Given the description of an element on the screen output the (x, y) to click on. 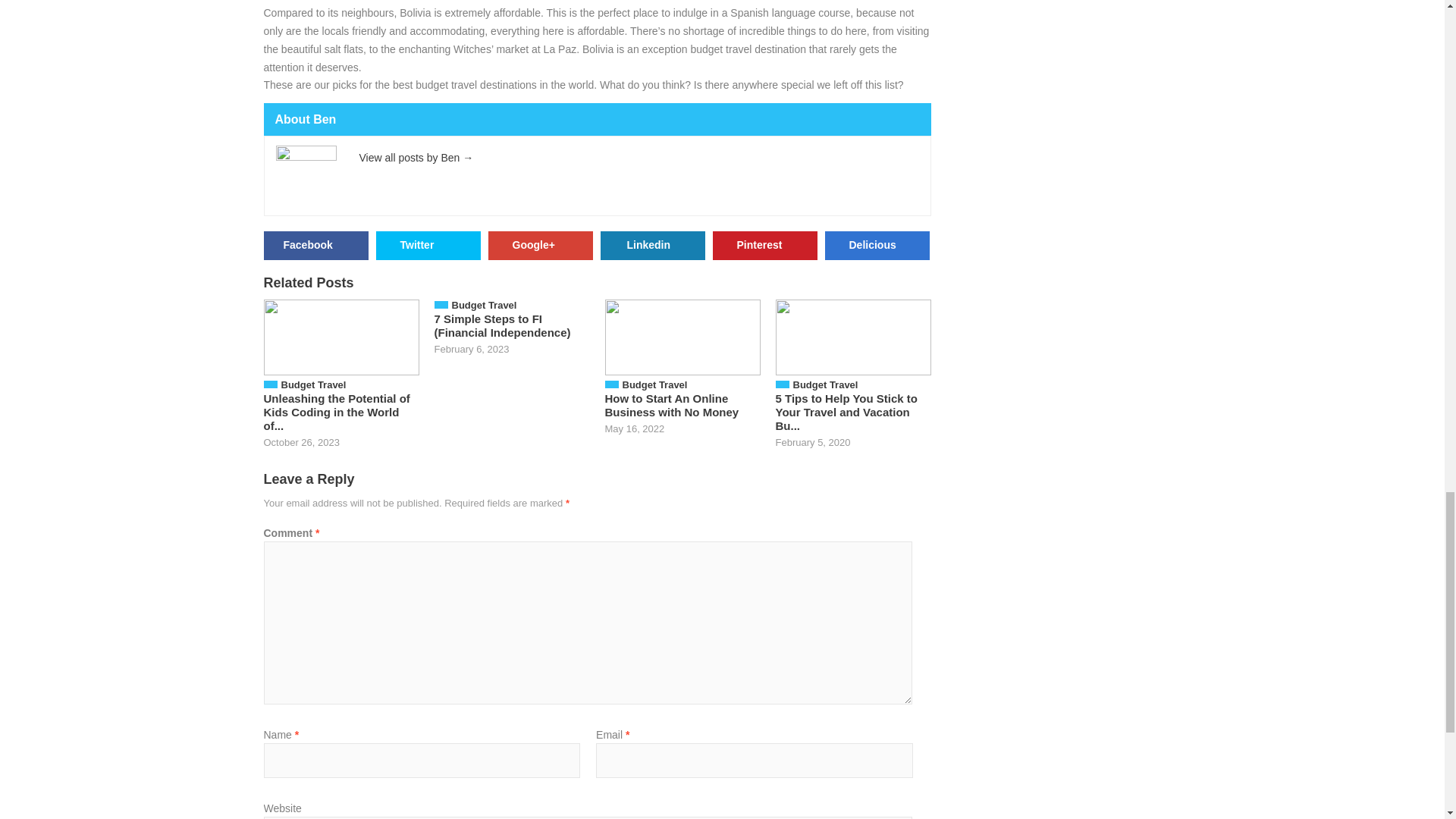
How to Start An Online Business with No Money (672, 405)
Linkedin (651, 245)
Unleashing the Potential of Kids Coding in the World of... (336, 412)
5 Tips to Help You Stick to Your Travel and Vacation Bu... (845, 412)
Budget Travel (313, 384)
Budget Travel (826, 384)
Delicious (877, 245)
Budget Travel (483, 305)
Twitter (427, 245)
Budget Travel (654, 384)
Pinterest (764, 245)
Facebook (315, 245)
